Given the description of an element on the screen output the (x, y) to click on. 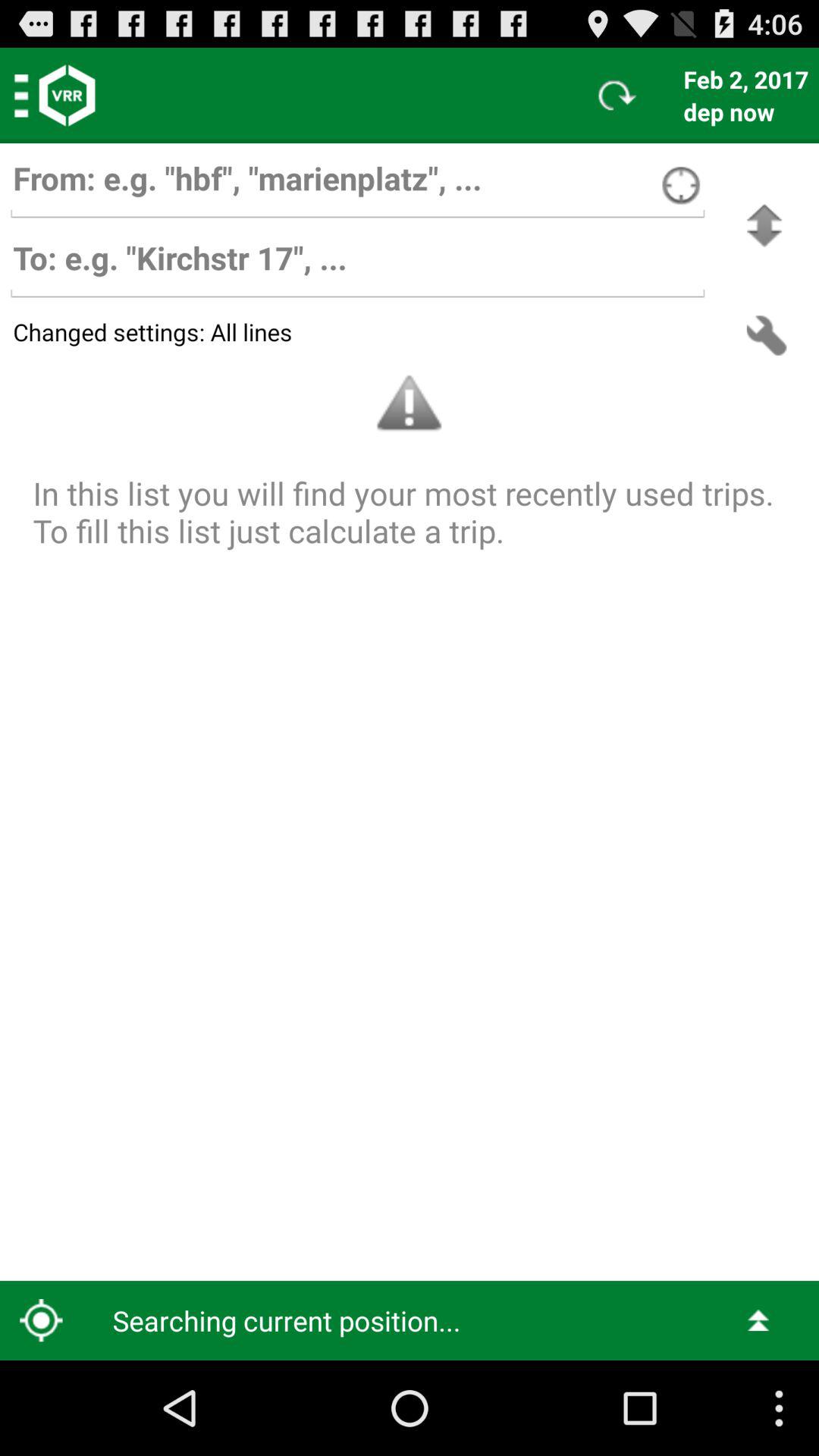
swich between source and target (764, 225)
